Given the description of an element on the screen output the (x, y) to click on. 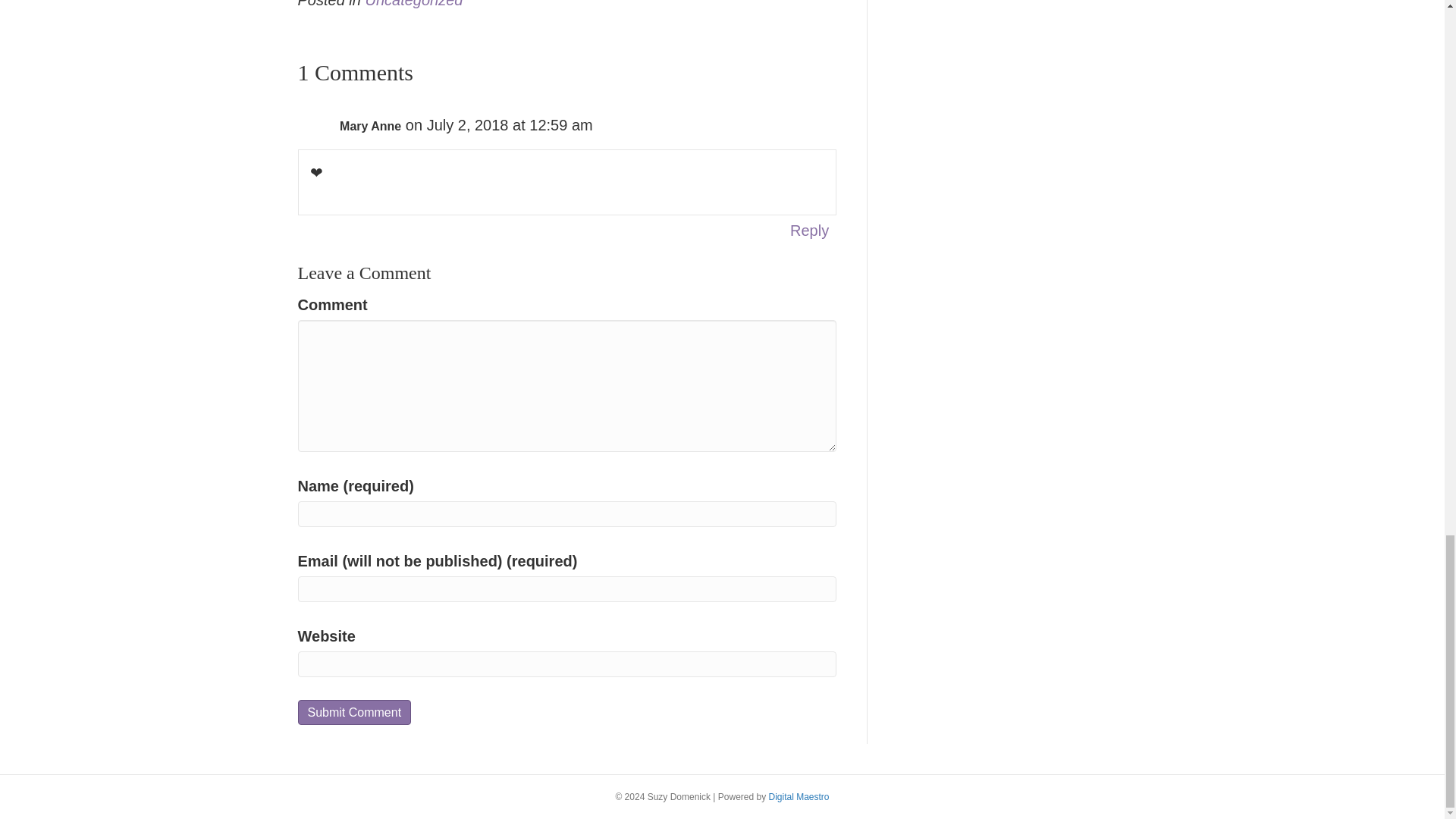
Submit Comment (353, 712)
Uncategorized (414, 4)
Reply (809, 230)
Digital Maestro (798, 796)
Submit Comment (353, 712)
